Given the description of an element on the screen output the (x, y) to click on. 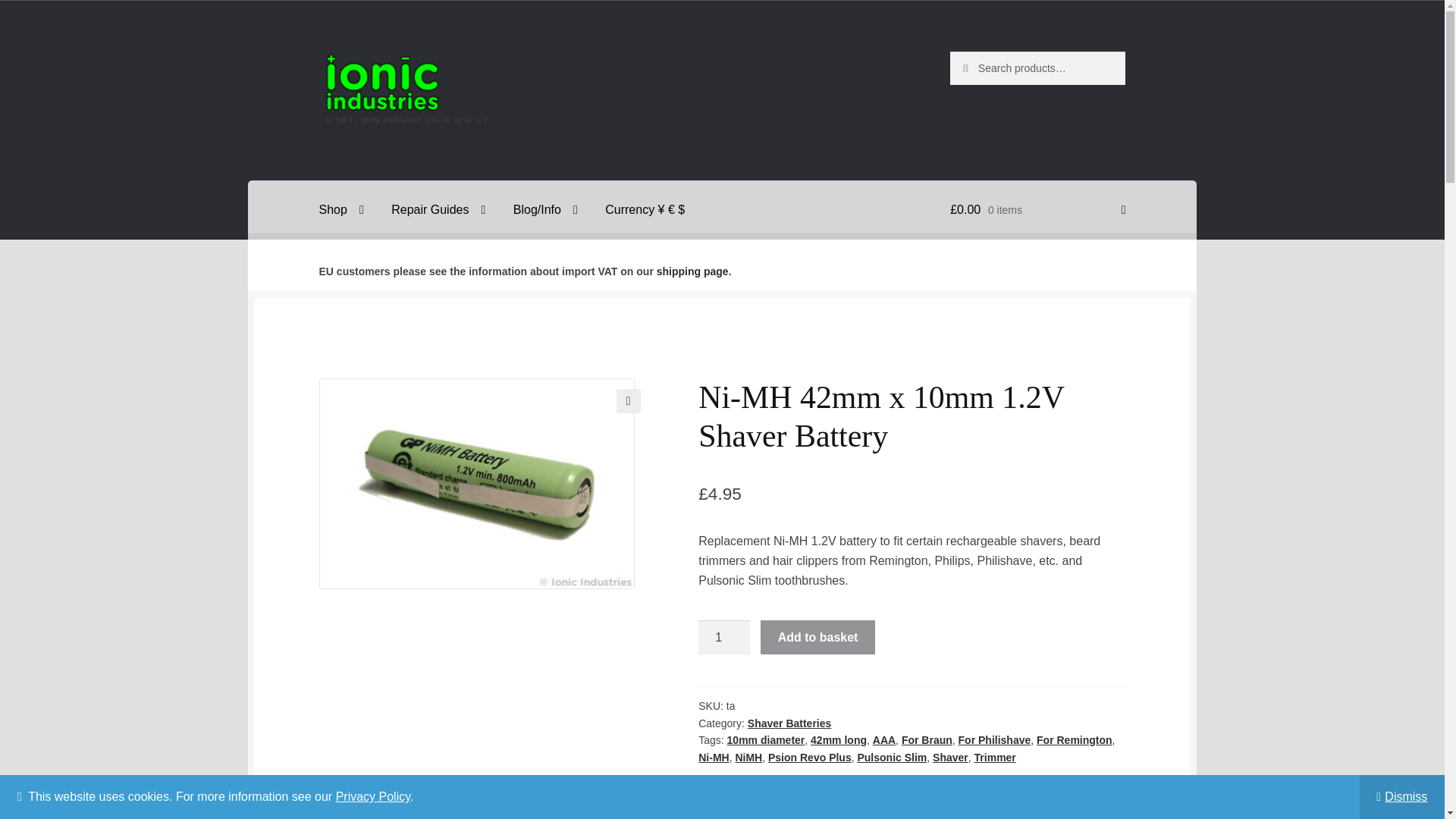
Repair Guides (437, 209)
Shop (341, 209)
View your shopping basket (1037, 209)
42-x-10mm-Ni-MH-shaver-battery-aaa-600 (476, 483)
1 (723, 637)
